Given the description of an element on the screen output the (x, y) to click on. 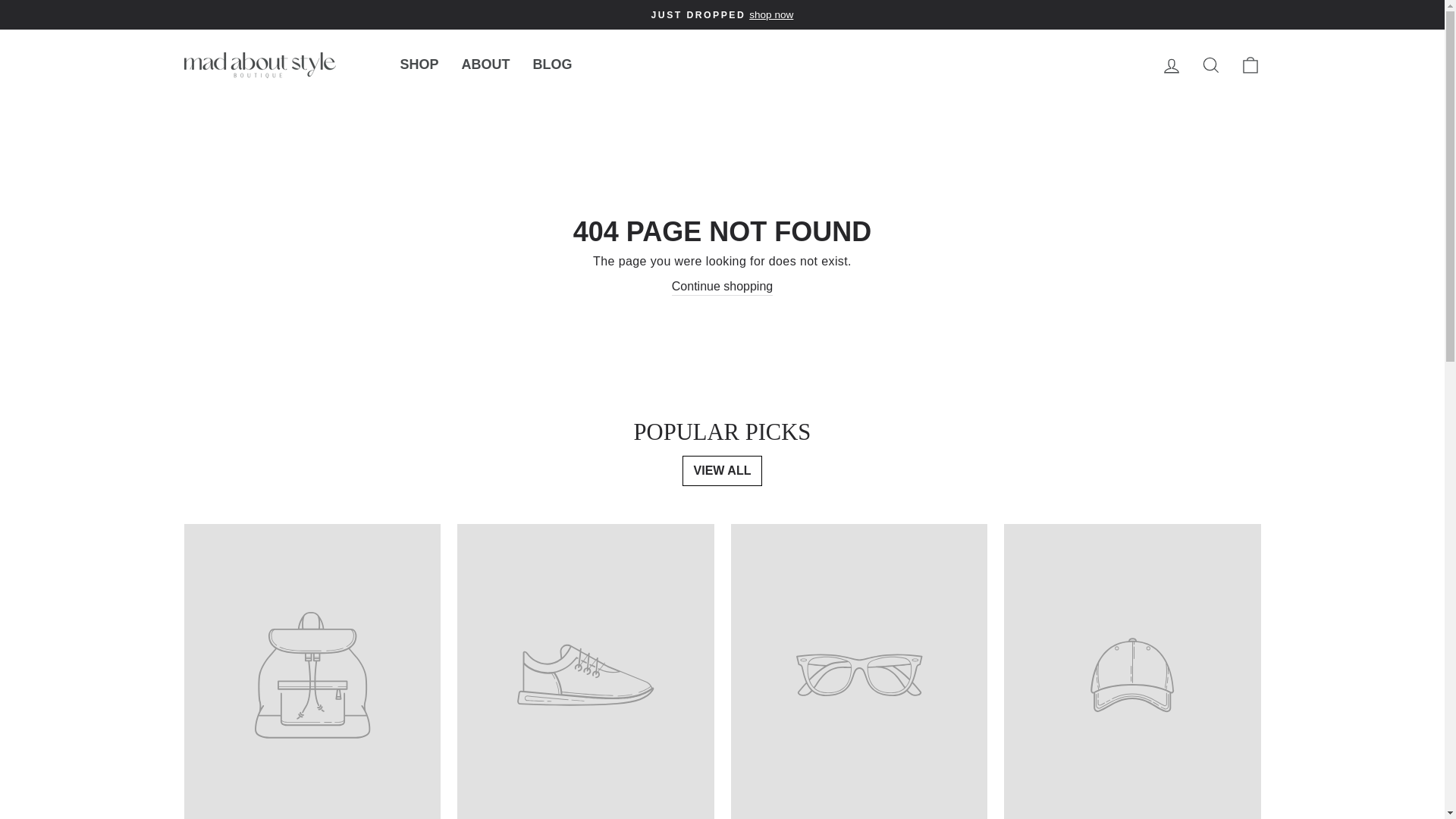
JUST DROPPEDshop now (722, 14)
ICON-SEARCH (1210, 65)
ACCOUNT (1170, 65)
ICON-BAG-MINIMAL (1249, 65)
